Given the description of an element on the screen output the (x, y) to click on. 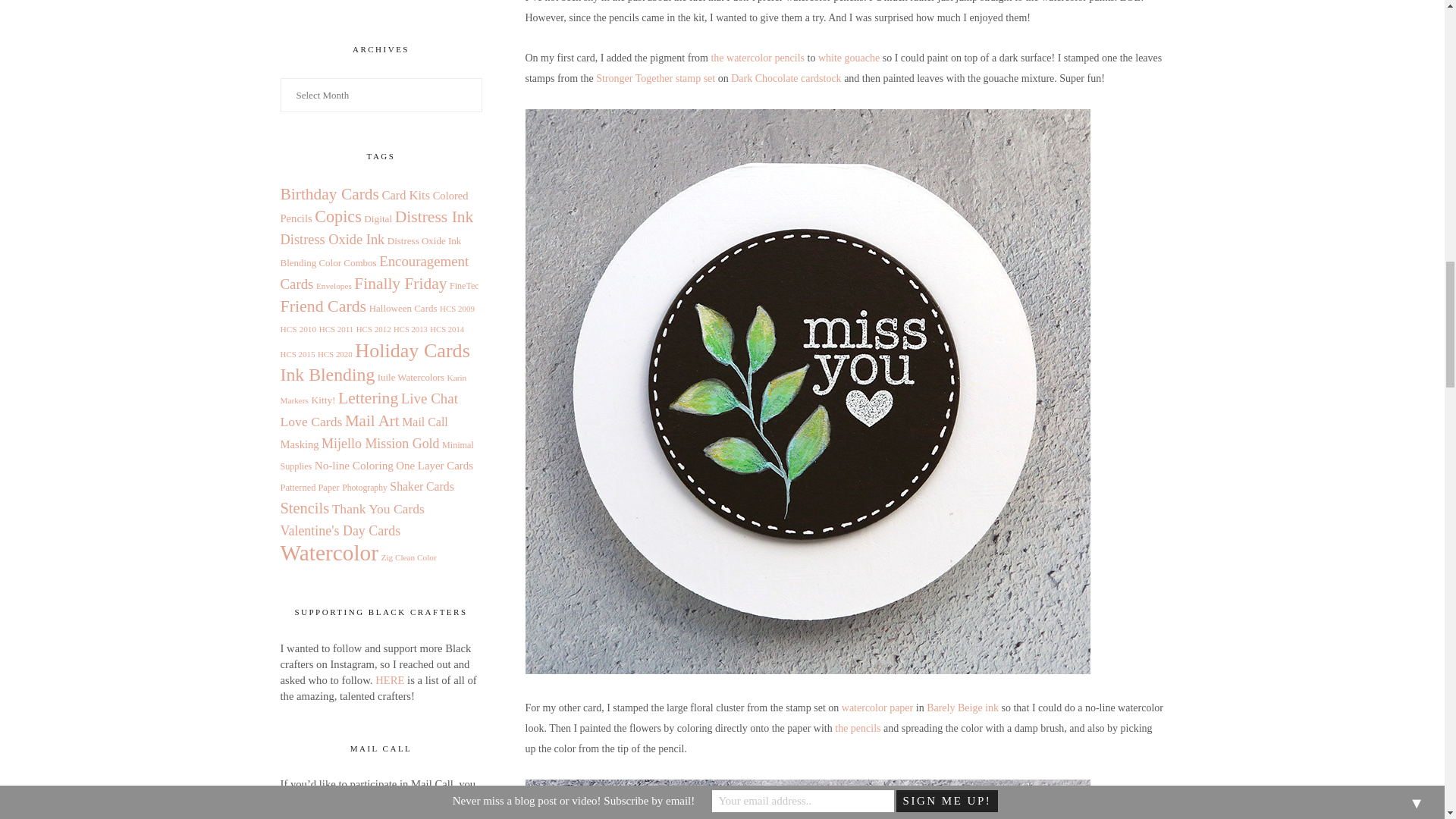
the watercolor pencils (757, 57)
white gouache (848, 57)
Stronger Together stamp set (654, 78)
Dark Chocolate cardstock (785, 78)
watercolor paper (876, 707)
